Given the description of an element on the screen output the (x, y) to click on. 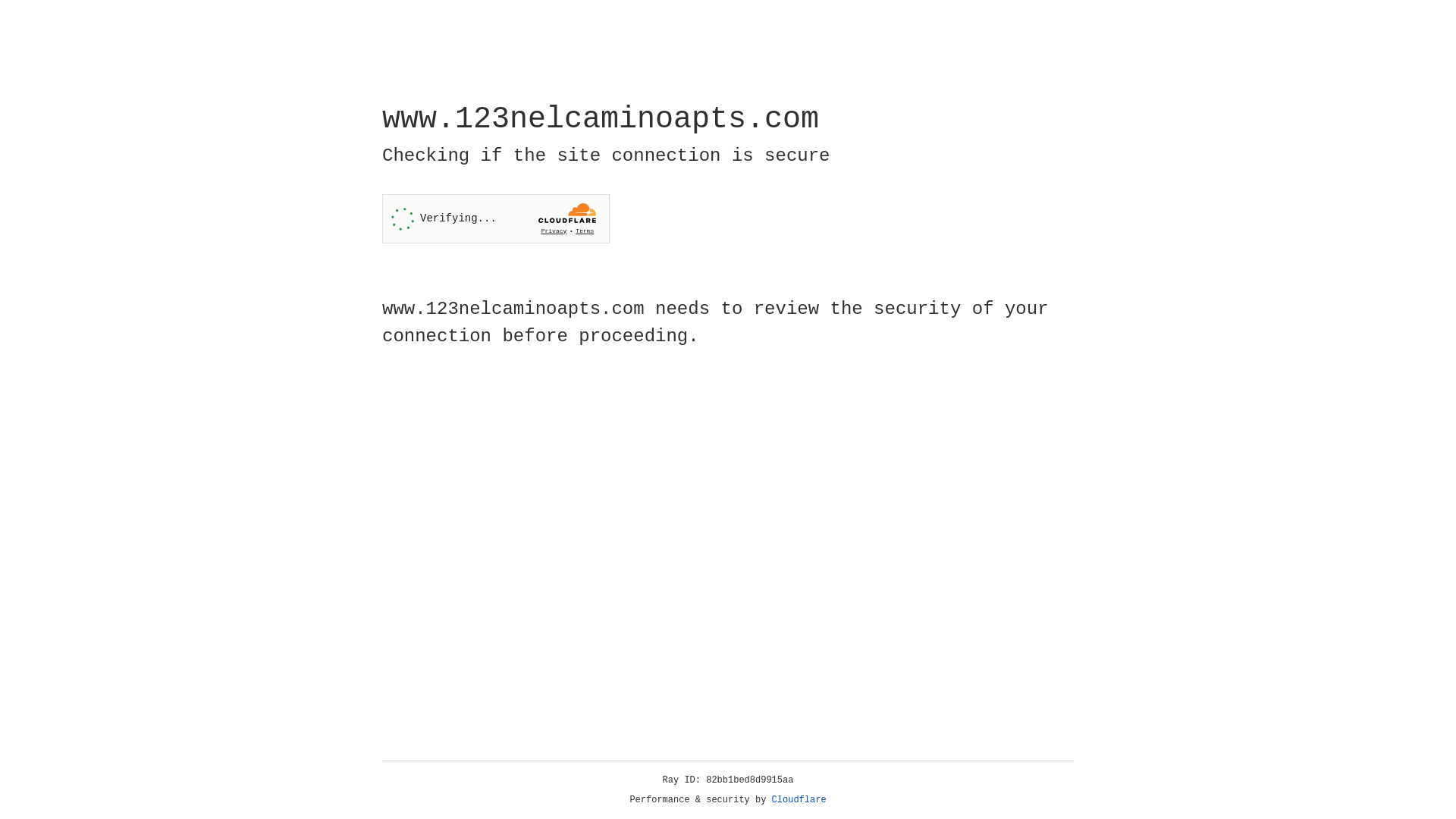
Widget containing a Cloudflare security challenge Element type: hover (495, 218)
Cloudflare Element type: text (798, 799)
